Given the description of an element on the screen output the (x, y) to click on. 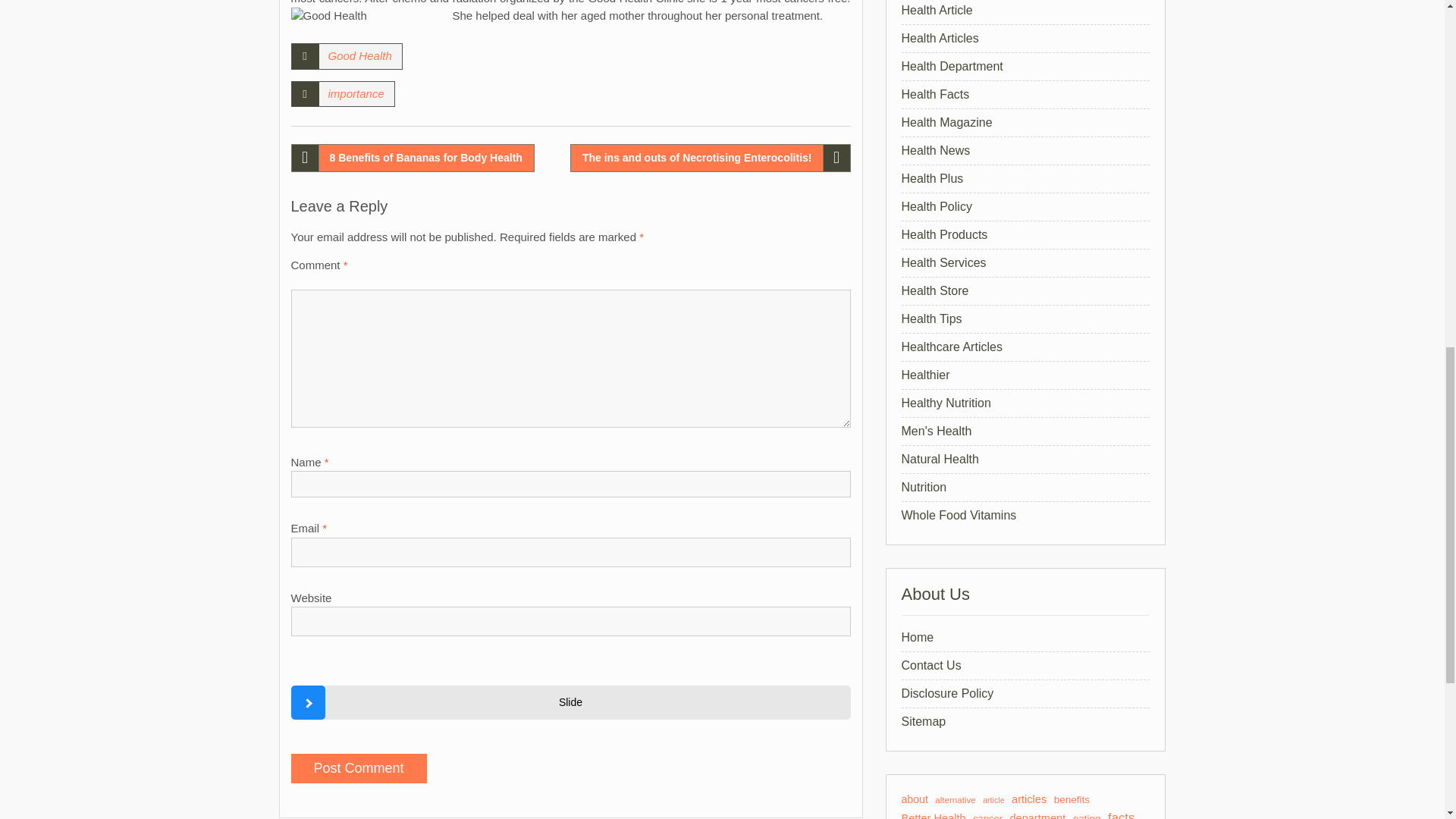
Post Comment (358, 767)
